Given the description of an element on the screen output the (x, y) to click on. 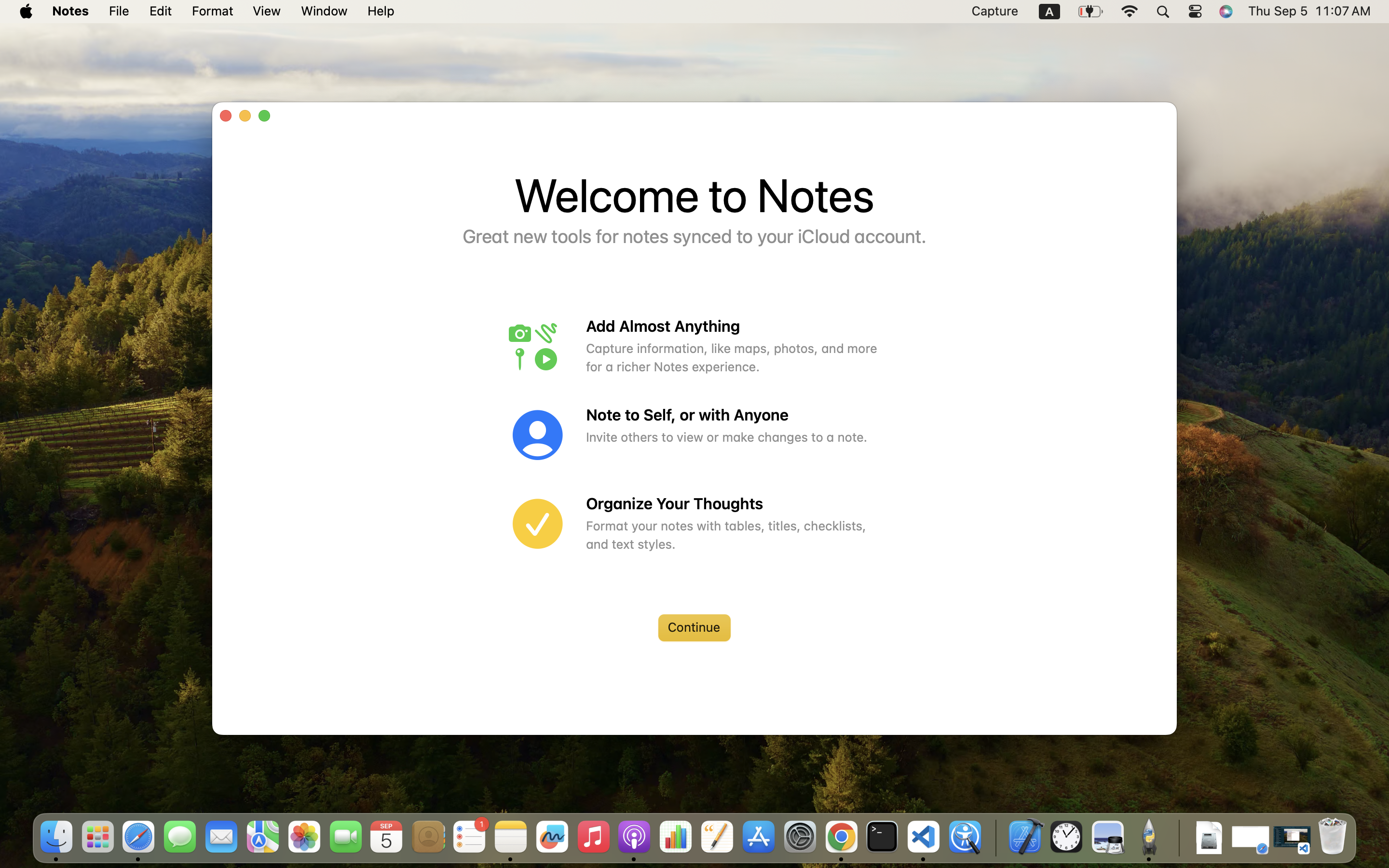
Add Almost Anything Element type: AXStaticText (732, 326)
Capture information, like maps, photos, and more for a richer Notes experience. Element type: AXStaticText (732, 357)
Great new tools for notes synced to your iCloud account. Element type: AXStaticText (693, 236)
